Given the description of an element on the screen output the (x, y) to click on. 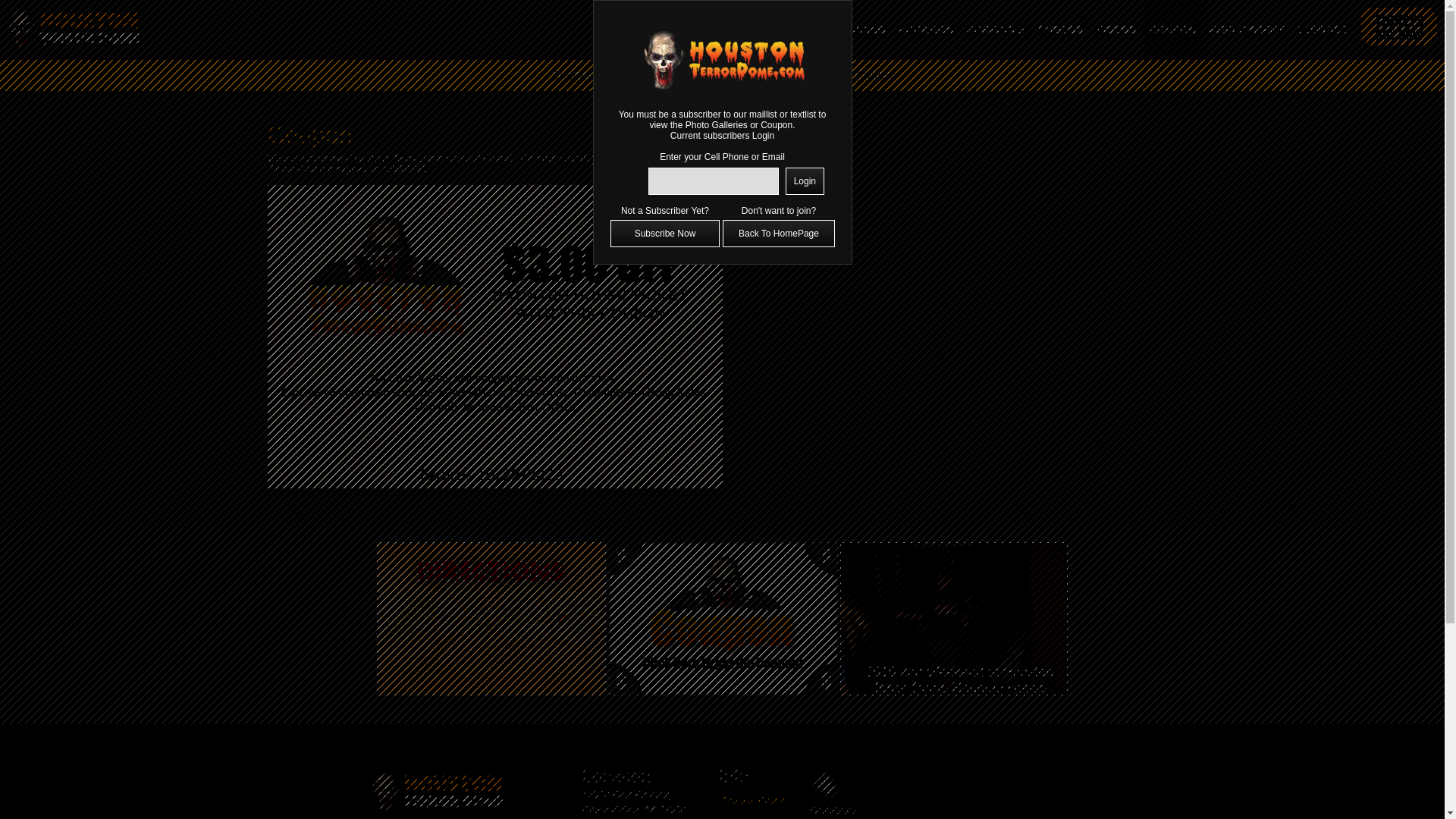
PRICING (863, 29)
EMPLOYMENT (1246, 29)
Photos from Houston Terror Dome Haunted Houses (1059, 29)
Attractions Houston Terror Dome Haunted Houses (790, 29)
Houston Terror Dome Haunted Houses Hours and Schedule (995, 29)
Contact Houston Terror Dome Haunted Houses (1323, 29)
Login (805, 180)
CONTACT (1323, 29)
Houston Terror Dome Haunted Houses Coupon (1172, 29)
